Given the description of an element on the screen output the (x, y) to click on. 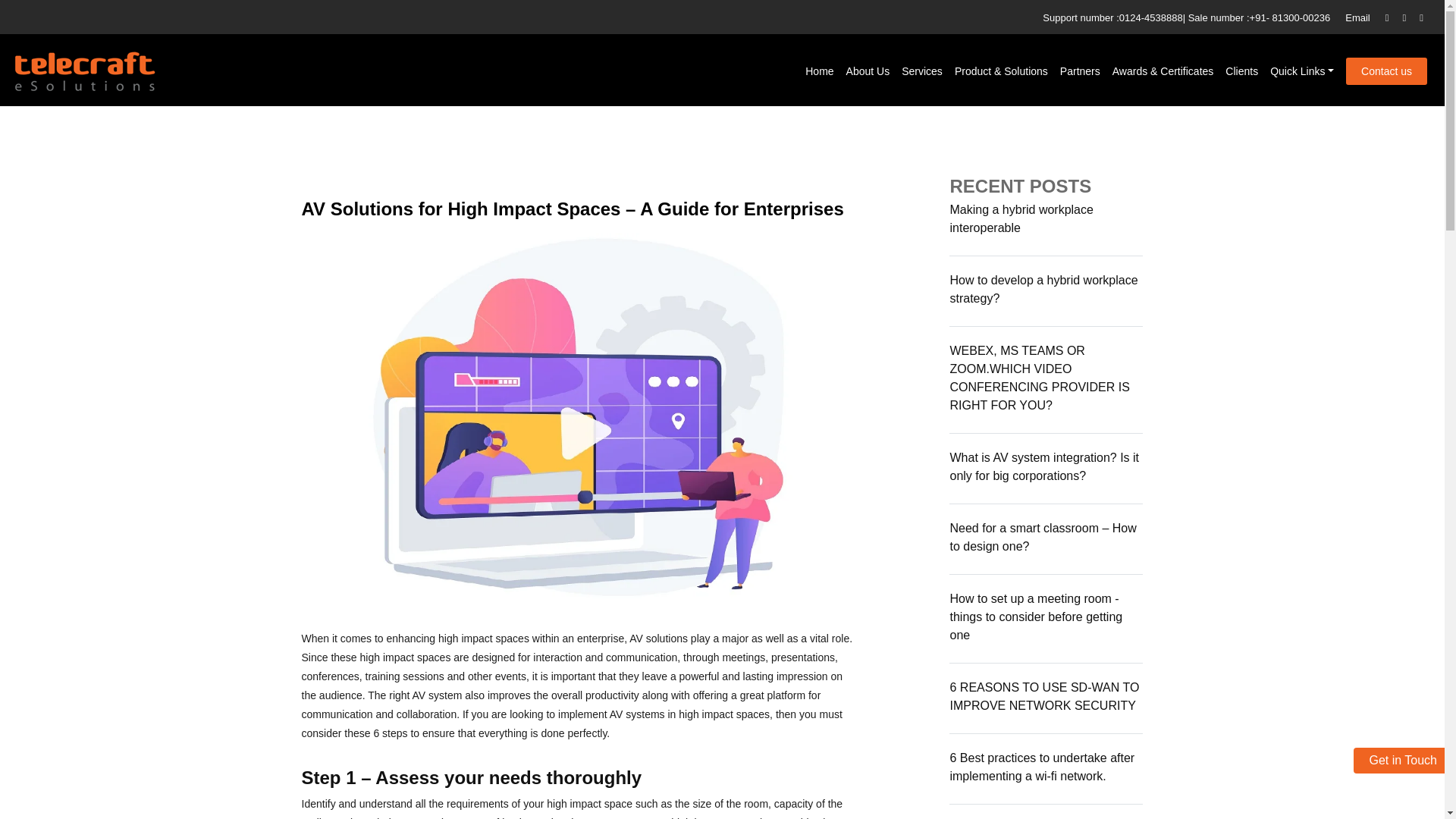
Clients (1241, 70)
Contact us (1385, 71)
6 REASONS TO USE SD-WAN TO IMPROVE NETWORK SECURITY (1043, 695)
About Us (867, 70)
Services (921, 70)
How to develop a hybrid workplace strategy? (1043, 288)
Quick Links (1301, 70)
Email (1357, 17)
Home (818, 70)
0124-4538888 (1150, 17)
Partners (1079, 70)
